Given the description of an element on the screen output the (x, y) to click on. 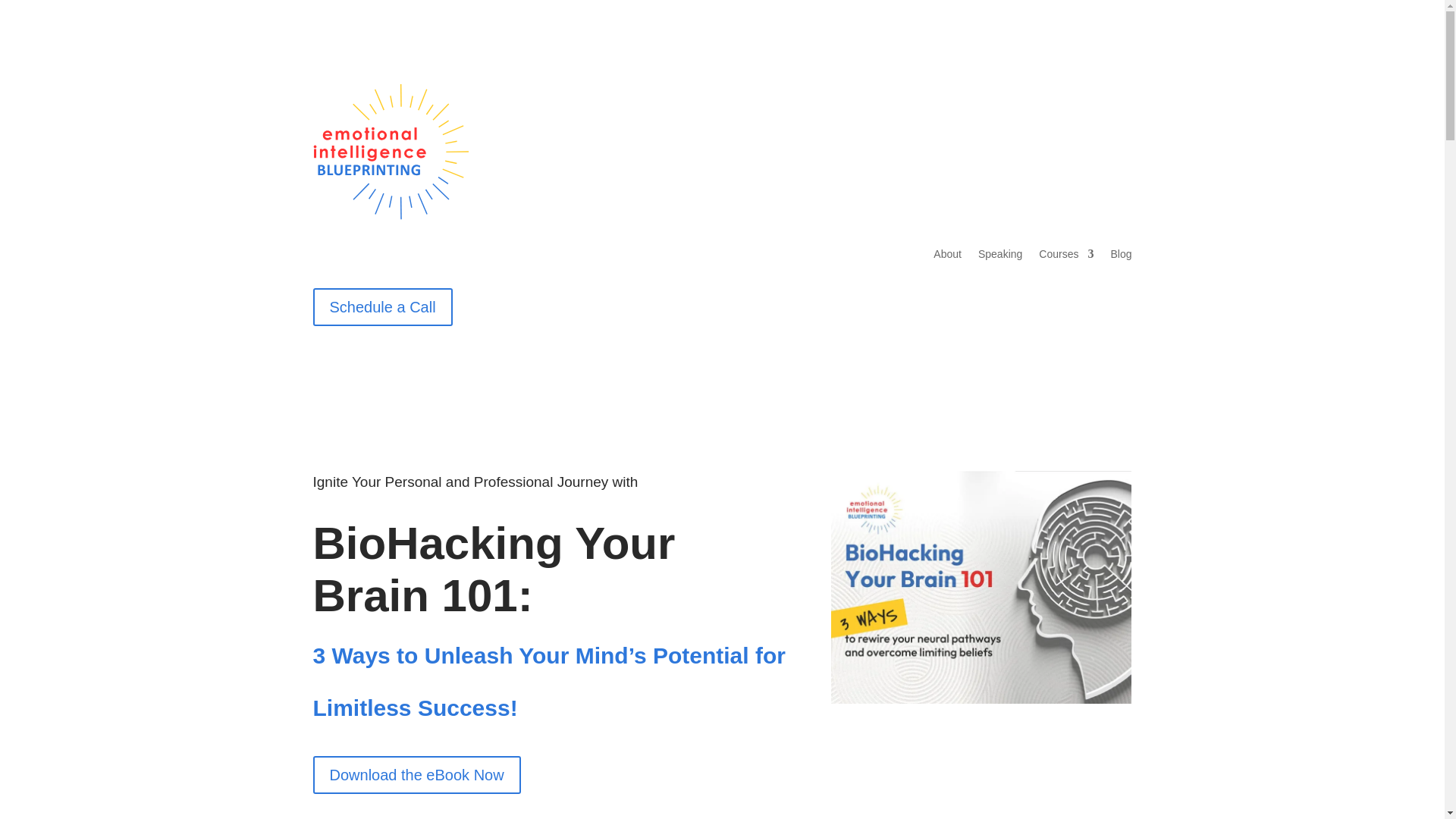
Download the eBook Now (416, 774)
Emotional Intelligence Logo (390, 152)
Speaking (1000, 256)
Courses (1066, 256)
BioHacking-Your-Brain-101-cover (981, 586)
Schedule a Call (382, 306)
Blog (1120, 256)
About (946, 256)
